Given the description of an element on the screen output the (x, y) to click on. 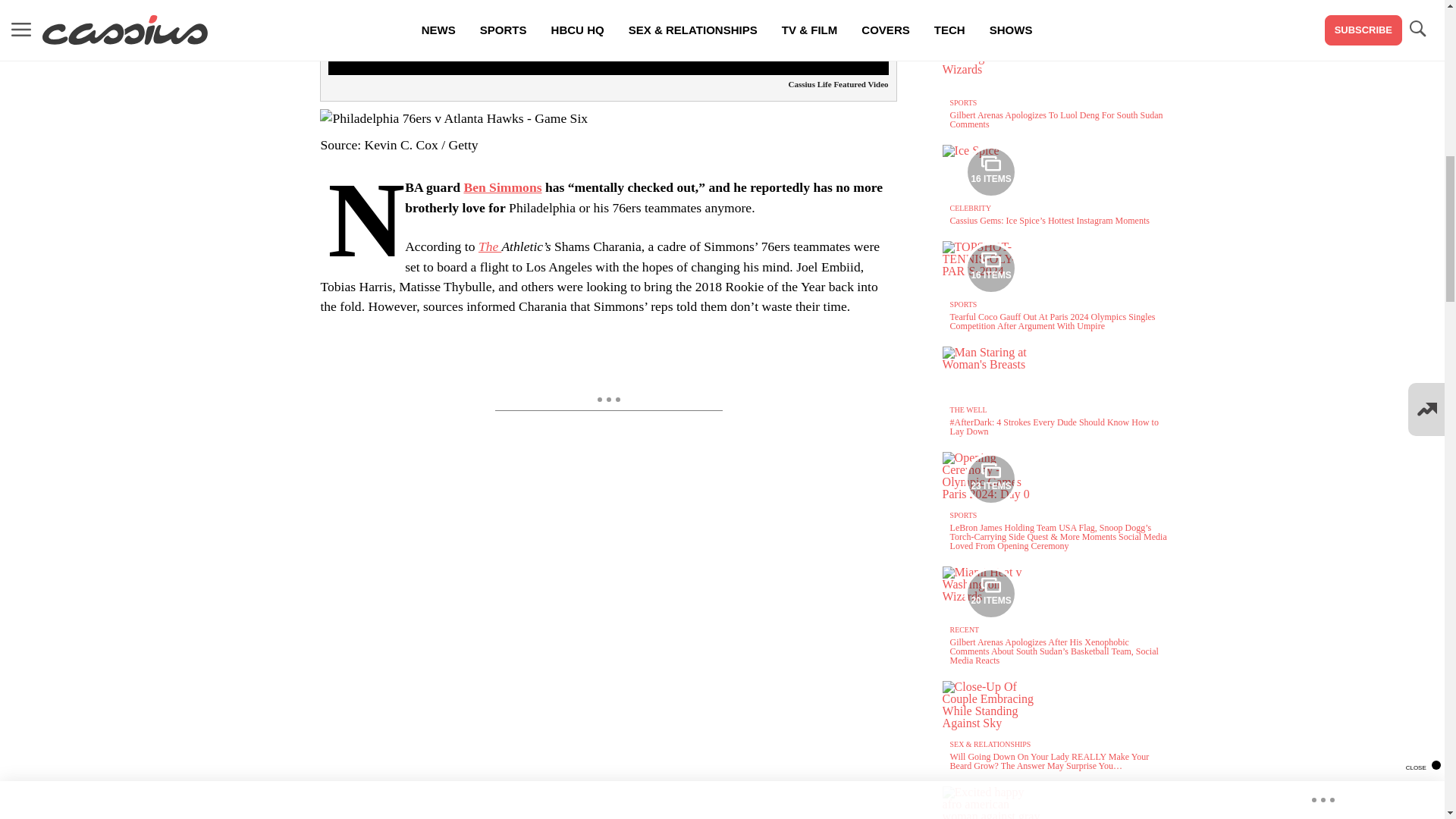
Media Playlist (990, 267)
The (489, 246)
Ben Simmons (502, 186)
Media Playlist (990, 479)
Media Playlist (990, 172)
Media Playlist (990, 593)
